Given the description of an element on the screen output the (x, y) to click on. 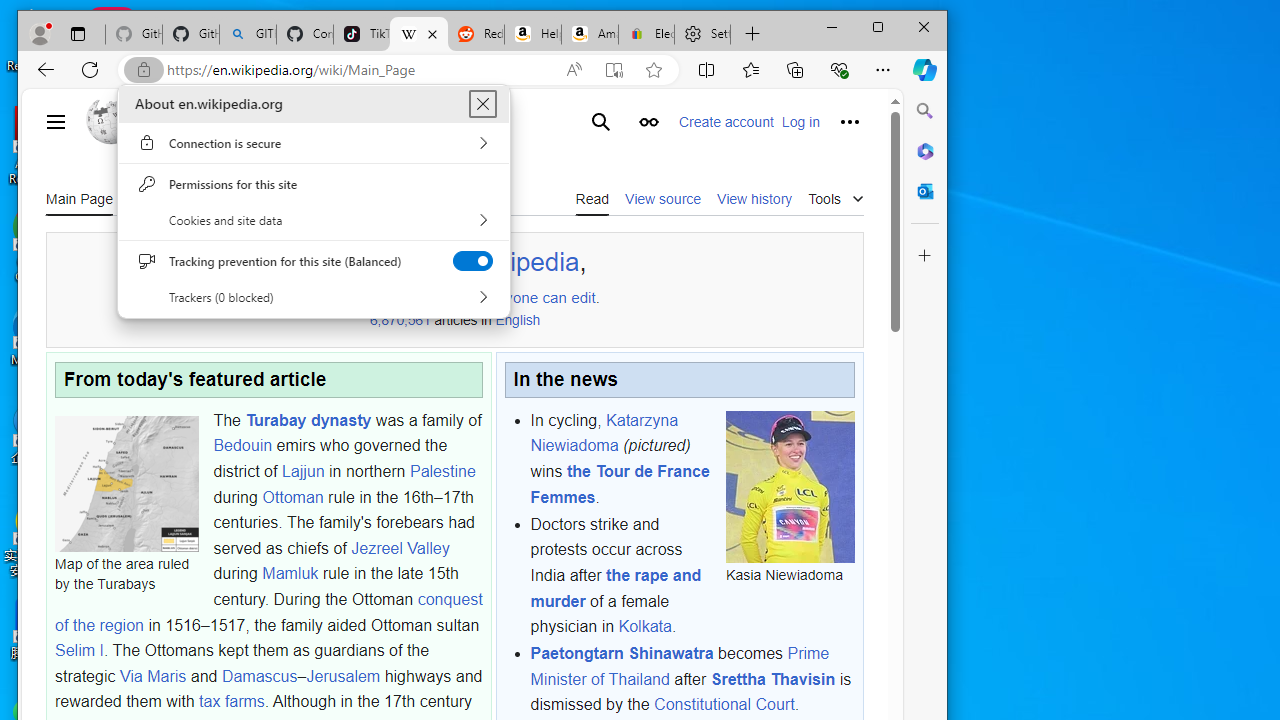
Read (592, 197)
Map of the area ruled by the Turabays (126, 483)
GITHUB - Search (248, 34)
Create account (726, 121)
Trackers (0 blocked) (314, 297)
Permissions for this site (314, 184)
Ottoman (292, 497)
Read (592, 197)
View history (754, 197)
Via Maris (152, 675)
Appearance (648, 122)
Maximize (878, 26)
Bedouin (242, 446)
Paetongtarn Shinawatra (621, 654)
